Given the description of an element on the screen output the (x, y) to click on. 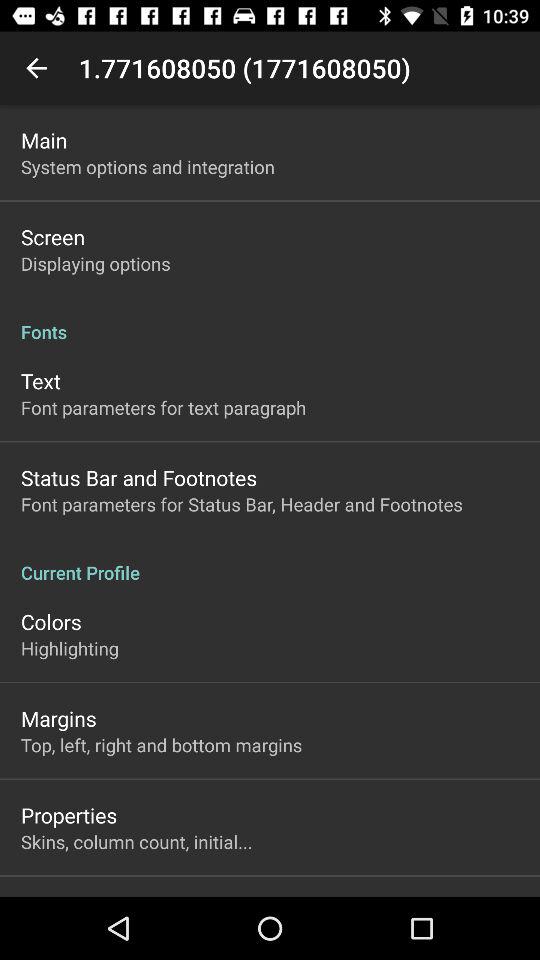
select app next to 1.771608050 (1771608050) app (36, 68)
